Given the description of an element on the screen output the (x, y) to click on. 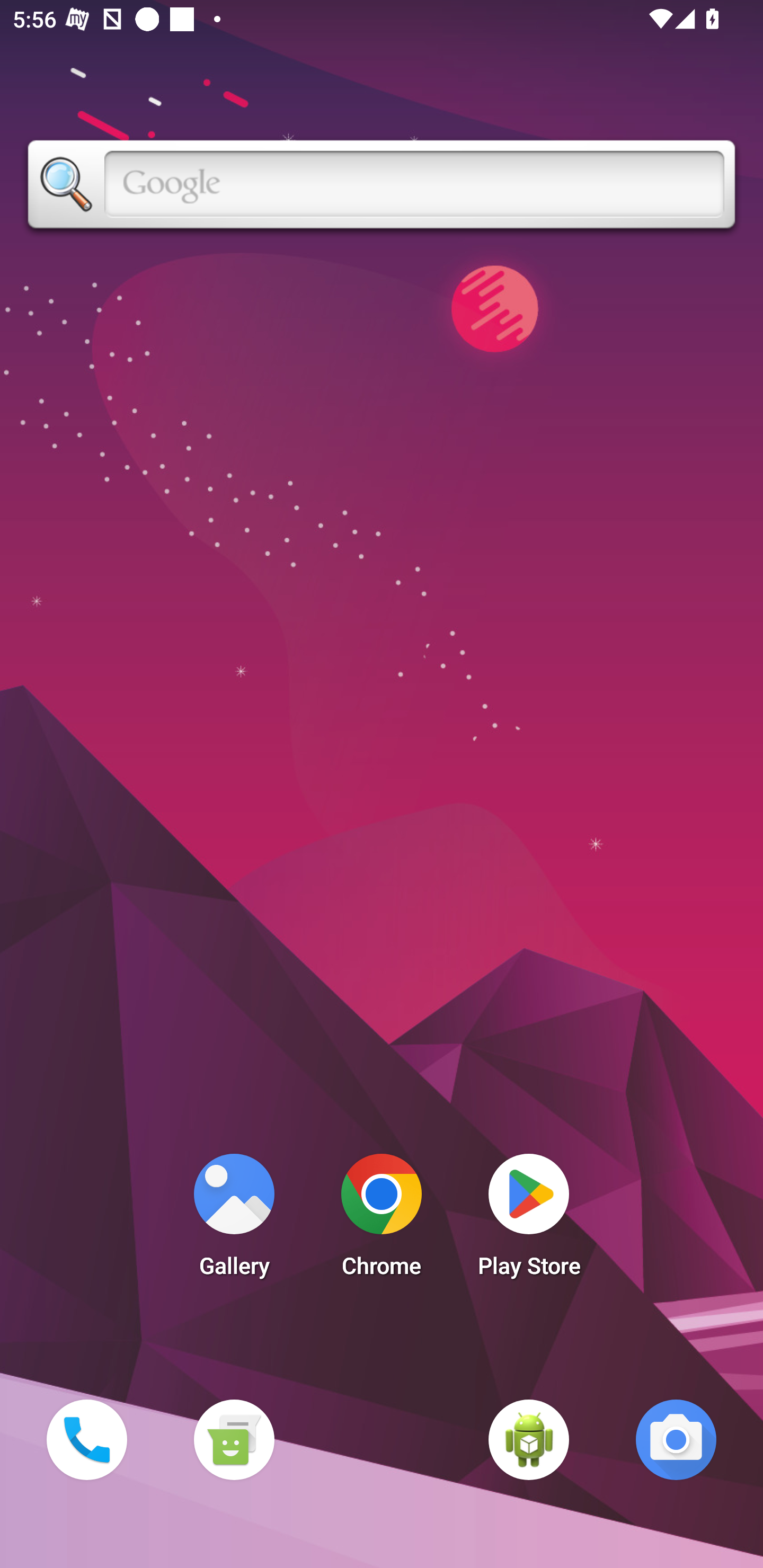
Gallery (233, 1220)
Chrome (381, 1220)
Play Store (528, 1220)
Phone (86, 1439)
Messaging (233, 1439)
WebView Browser Tester (528, 1439)
Camera (676, 1439)
